Given the description of an element on the screen output the (x, y) to click on. 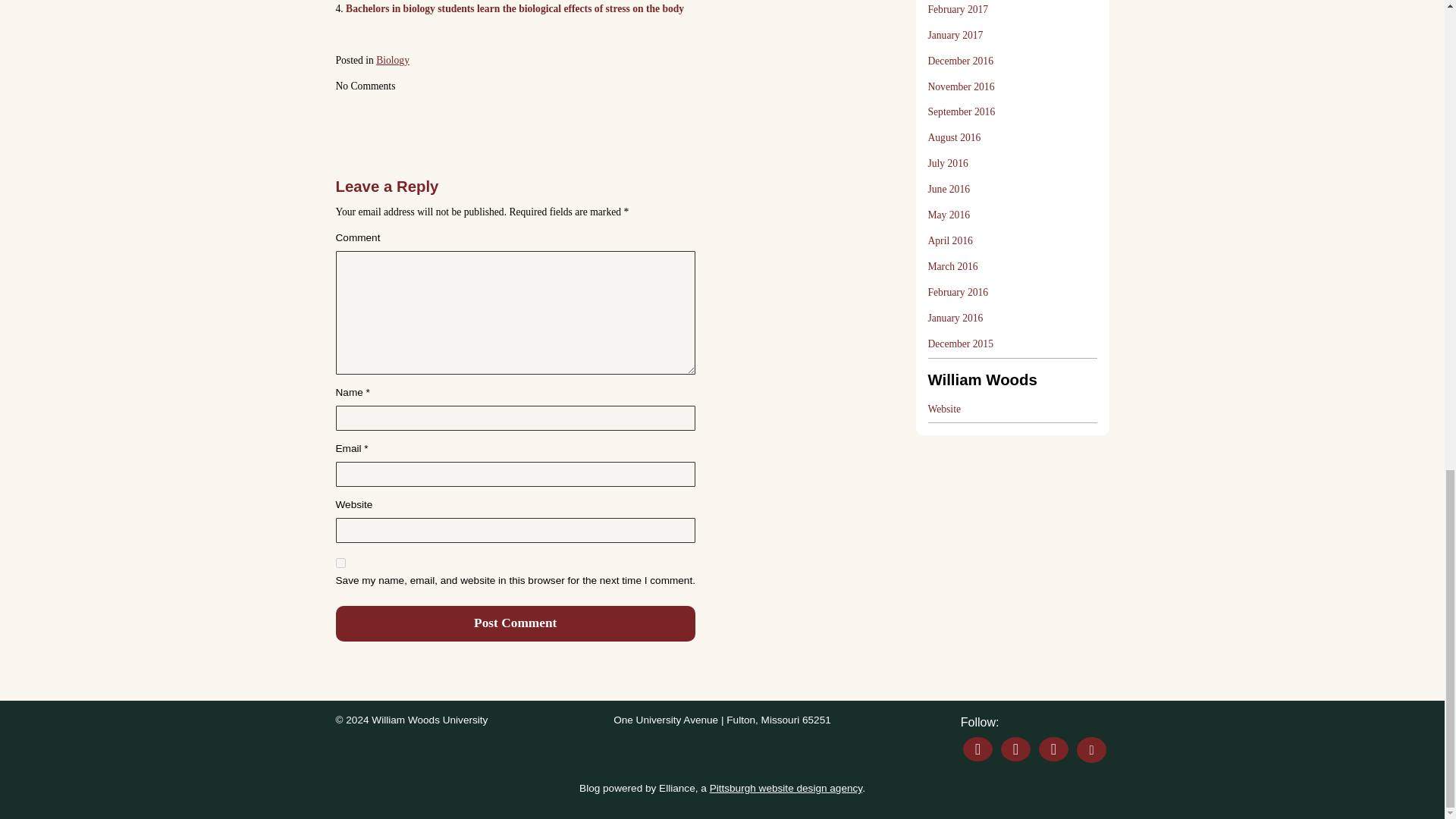
Post Comment (514, 623)
yes (339, 562)
Biology (392, 60)
Post Comment (514, 623)
